Given the description of an element on the screen output the (x, y) to click on. 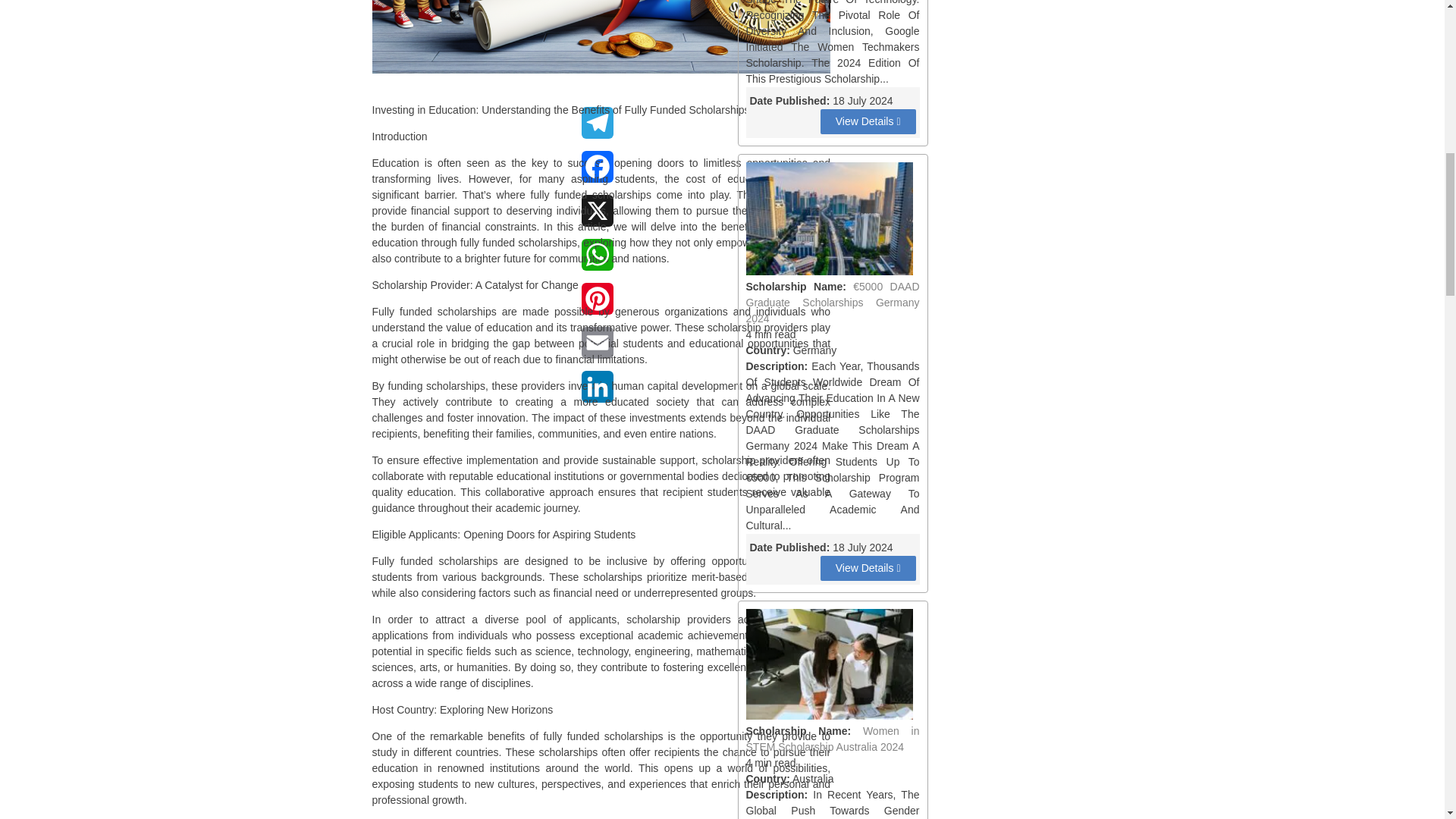
Pinterest (596, 304)
Telegram (596, 128)
WhatsApp (596, 260)
Email (596, 348)
X (596, 216)
Facebook (596, 172)
